Given the description of an element on the screen output the (x, y) to click on. 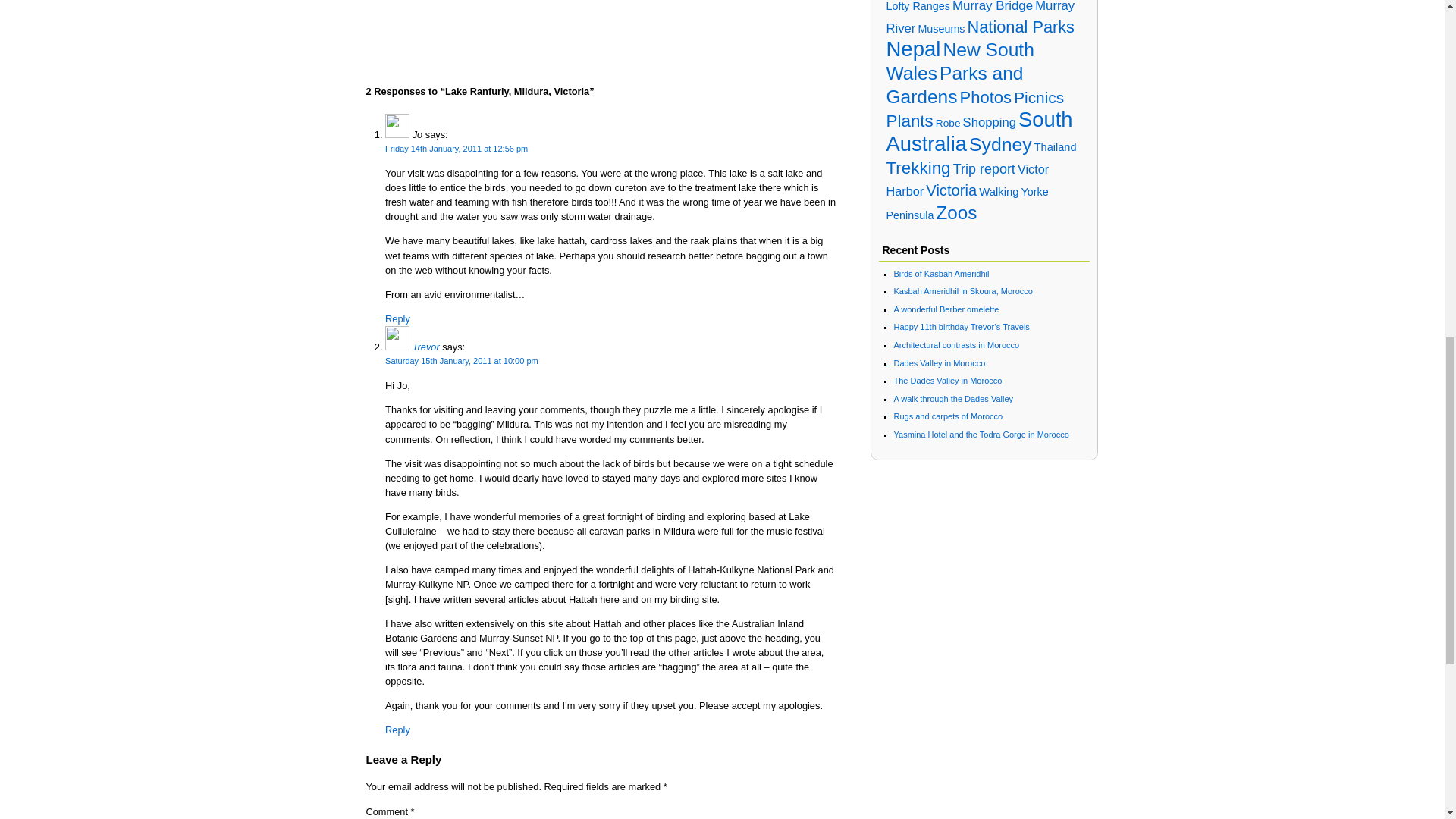
Reply (397, 318)
Reply (397, 729)
Friday 14th January, 2011 at 12:56 pm (456, 148)
Saturday 15th January, 2011 at 10:00 pm (461, 360)
Advertisement (600, 29)
Trevor (425, 346)
